Given the description of an element on the screen output the (x, y) to click on. 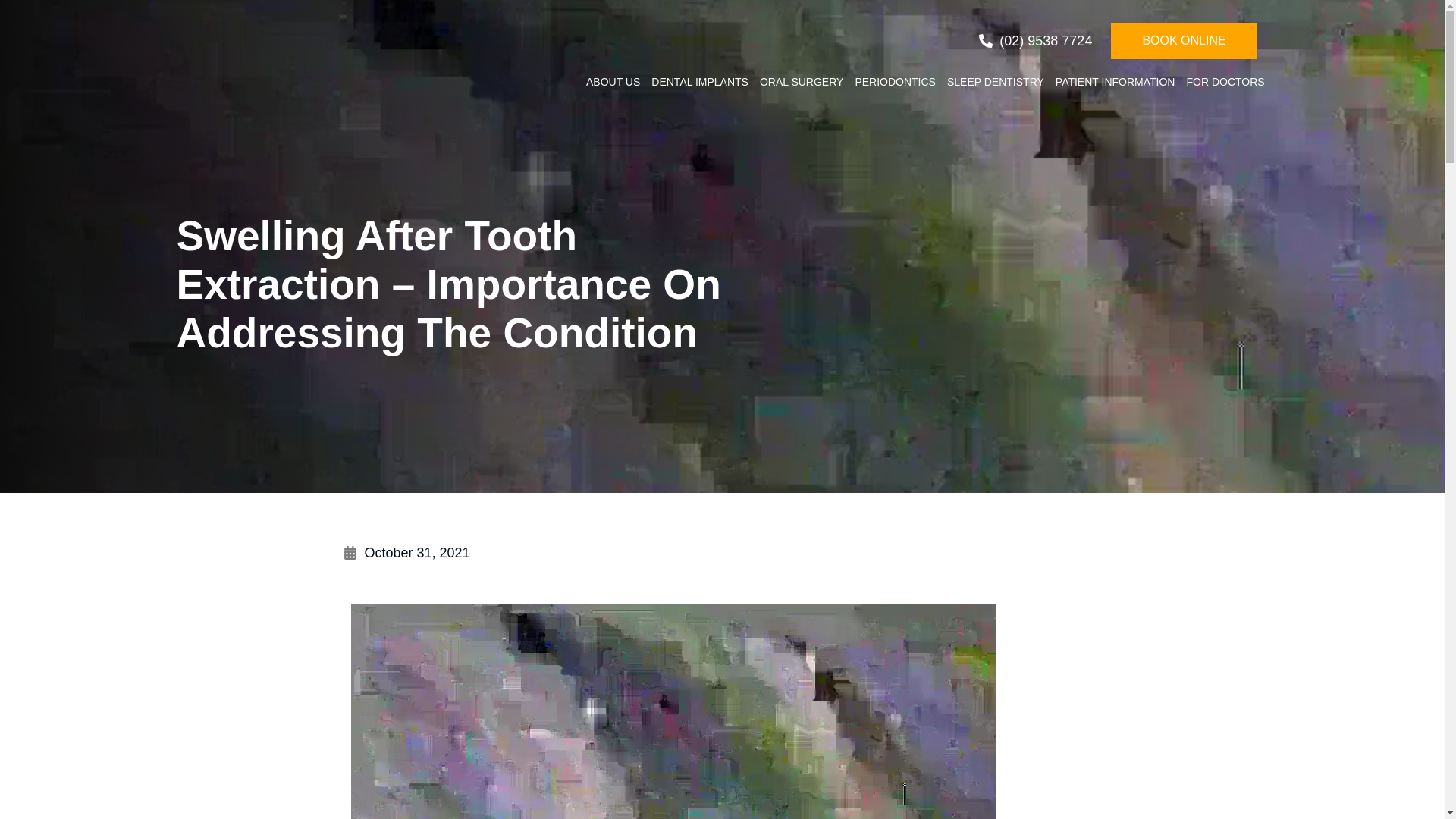
ABOUT US (613, 81)
BOOK ONLINE (1183, 40)
